Given the description of an element on the screen output the (x, y) to click on. 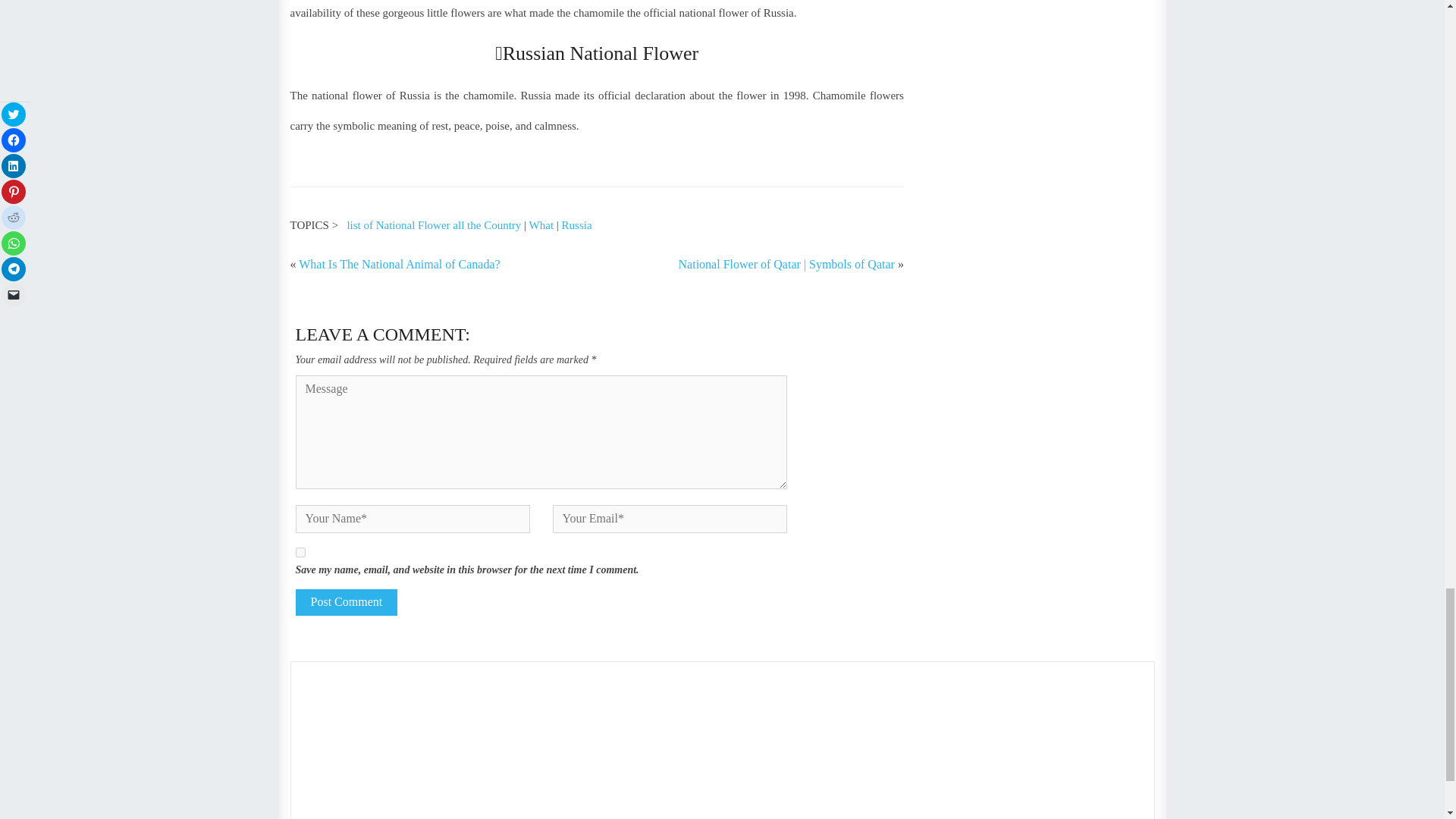
Russia (577, 224)
yes (300, 552)
list of National Flower all the Country (433, 224)
What Is The National Animal of Canada? (398, 264)
Post Comment (346, 601)
Post Comment (346, 601)
What (541, 224)
